Given the description of an element on the screen output the (x, y) to click on. 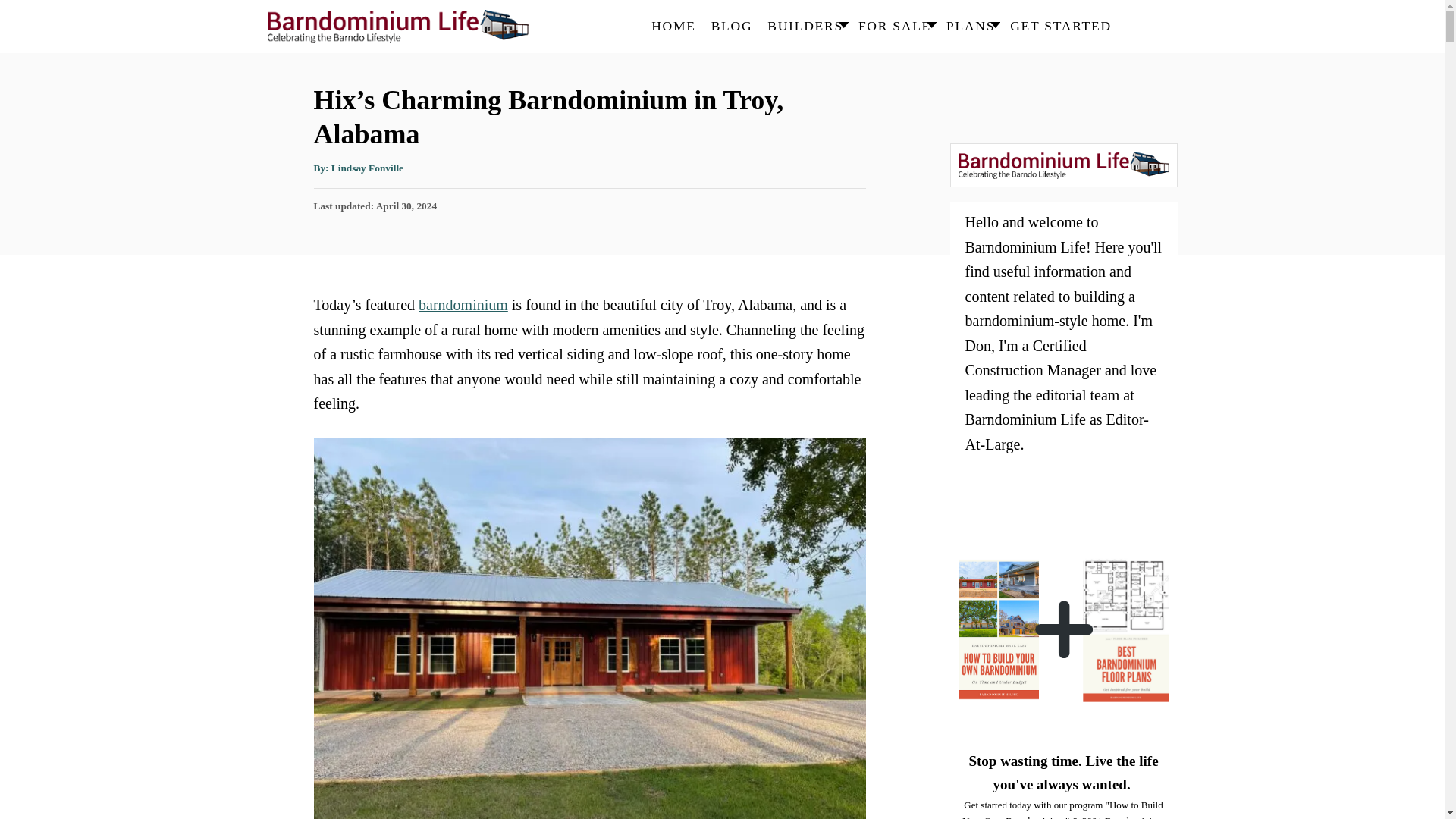
HOME (673, 26)
BLOG (731, 26)
GET STARTED (1061, 26)
same-program (1062, 628)
barndominium (463, 304)
PLANS (971, 26)
Lindsay Fonville (367, 167)
FOR SALE (894, 26)
Barndominium Life (403, 26)
BUILDERS (805, 26)
